Given the description of an element on the screen output the (x, y) to click on. 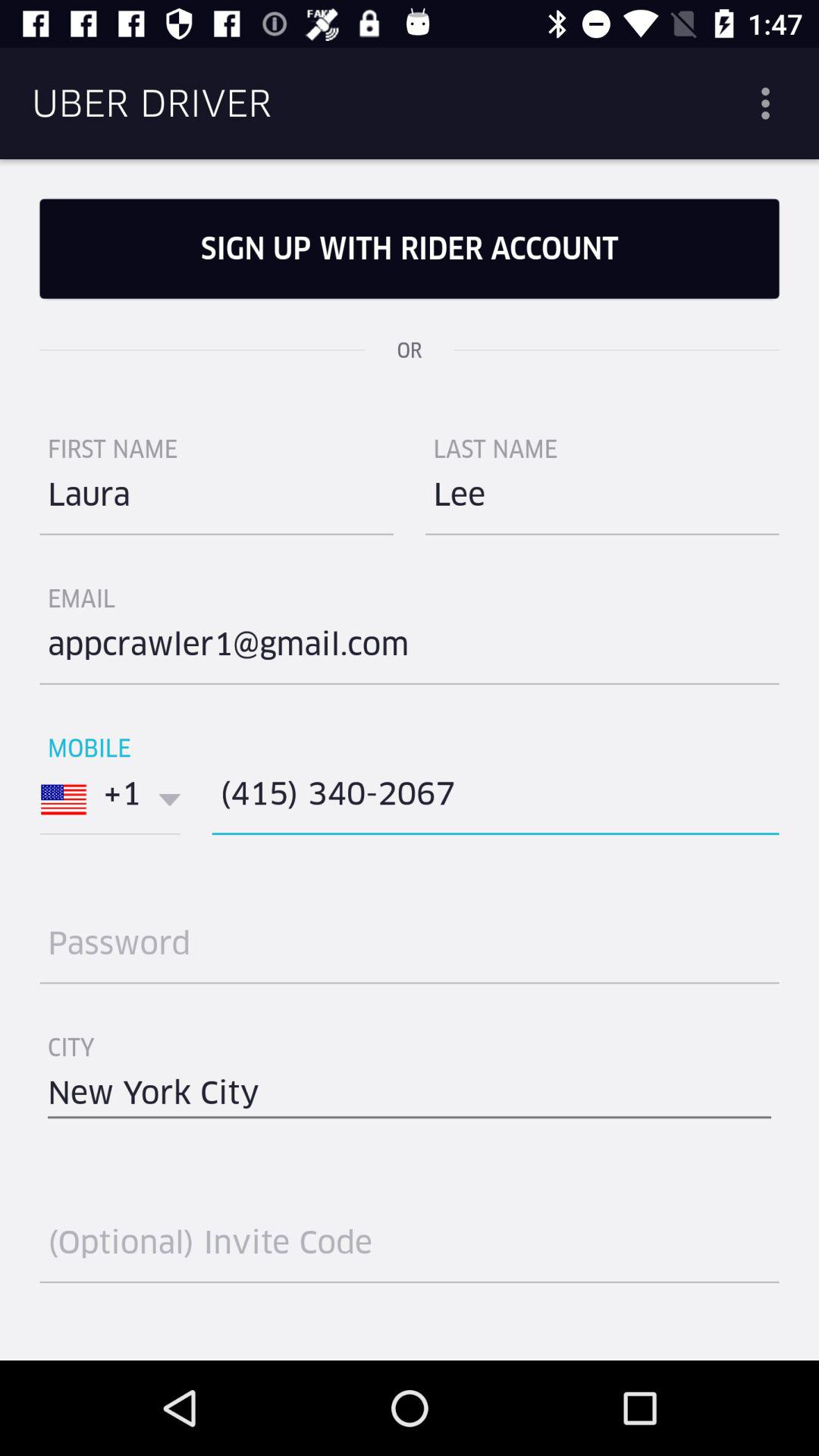
button above or (409, 248)
